Given the description of an element on the screen output the (x, y) to click on. 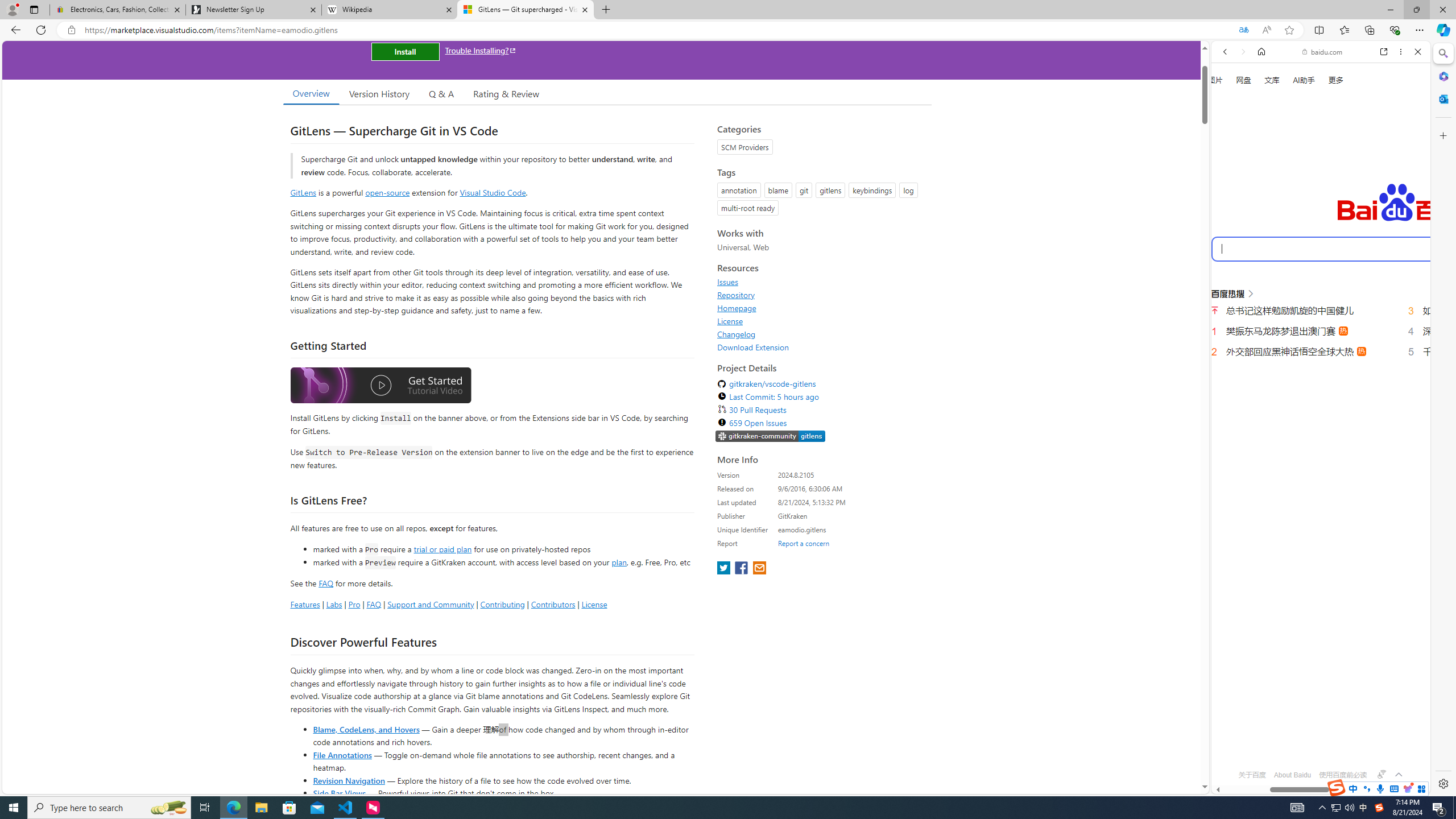
Electronics, Cars, Fashion, Collectibles & More | eBay (117, 9)
Changelog (736, 333)
Rating & Review (505, 92)
Features (304, 603)
Changelog (820, 333)
File Annotations (342, 754)
